Given the description of an element on the screen output the (x, y) to click on. 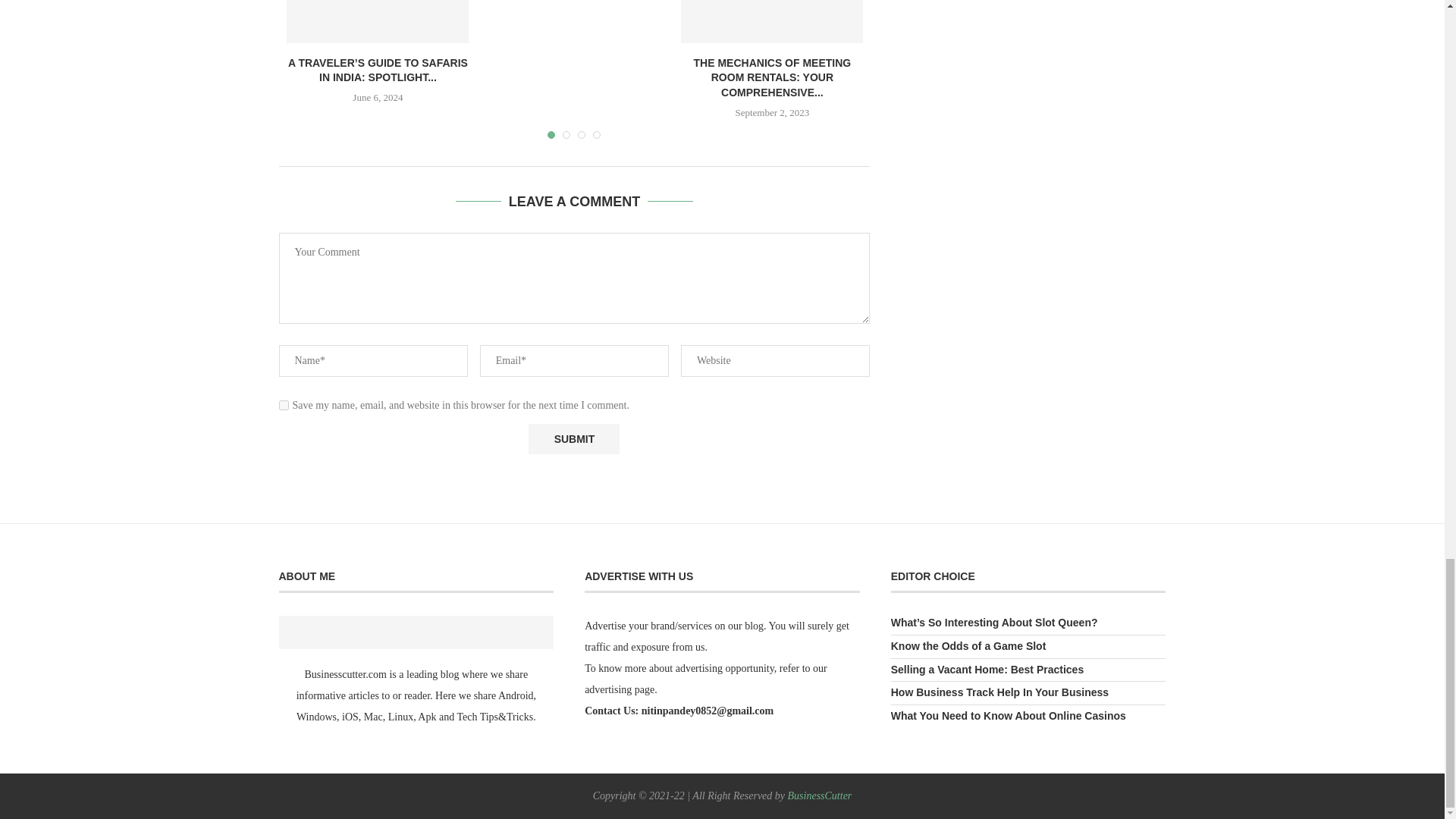
yes (283, 405)
Submit (574, 439)
